Given the description of an element on the screen output the (x, y) to click on. 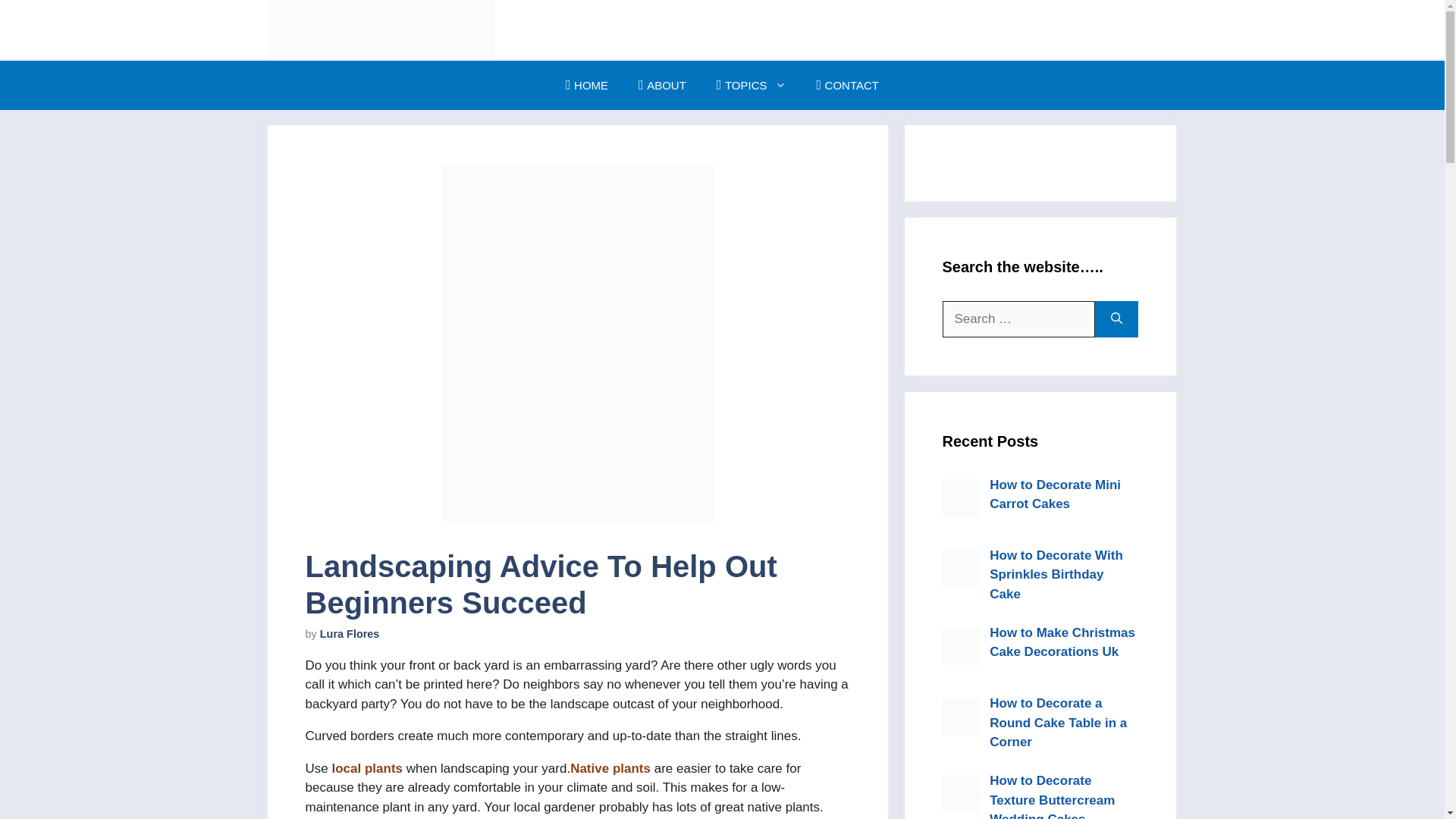
ABOUT (662, 84)
TOPICS (751, 84)
HOME (586, 84)
View all posts by Lura Flores (350, 633)
